Given the description of an element on the screen output the (x, y) to click on. 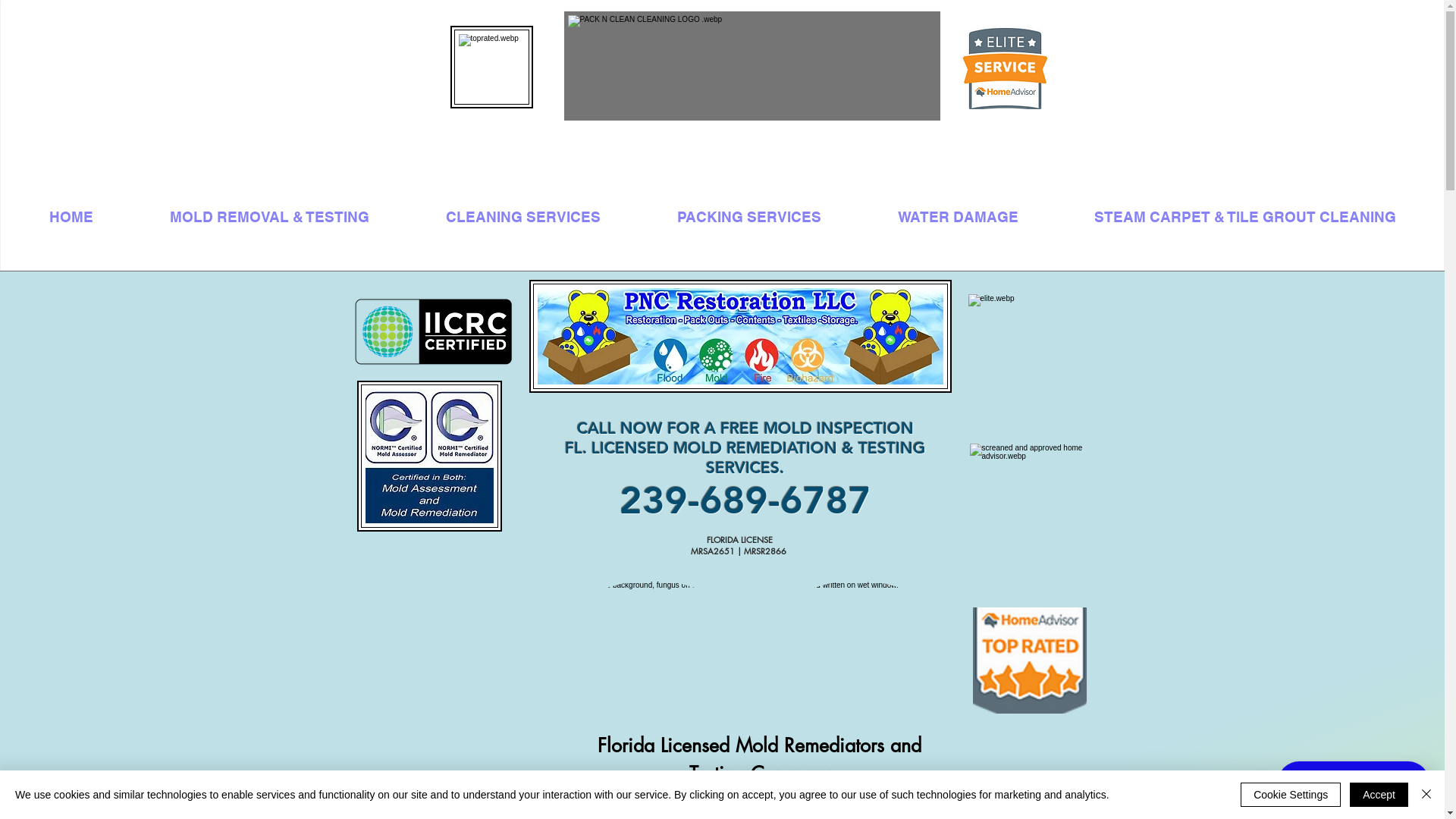
Accept Element type: text (1378, 794)
STEAM CARPET & TILE GROUT CLEANING Element type: text (1245, 216)
MOLD REMOVAL & TESTING Element type: text (269, 216)
CLEANING SERVICES Element type: text (522, 216)
PACKING SERVICES Element type: text (748, 216)
HOME Element type: text (70, 216)
WATER DAMAGE Element type: text (957, 216)
Cookie Settings Element type: text (1290, 794)
